Given the description of an element on the screen output the (x, y) to click on. 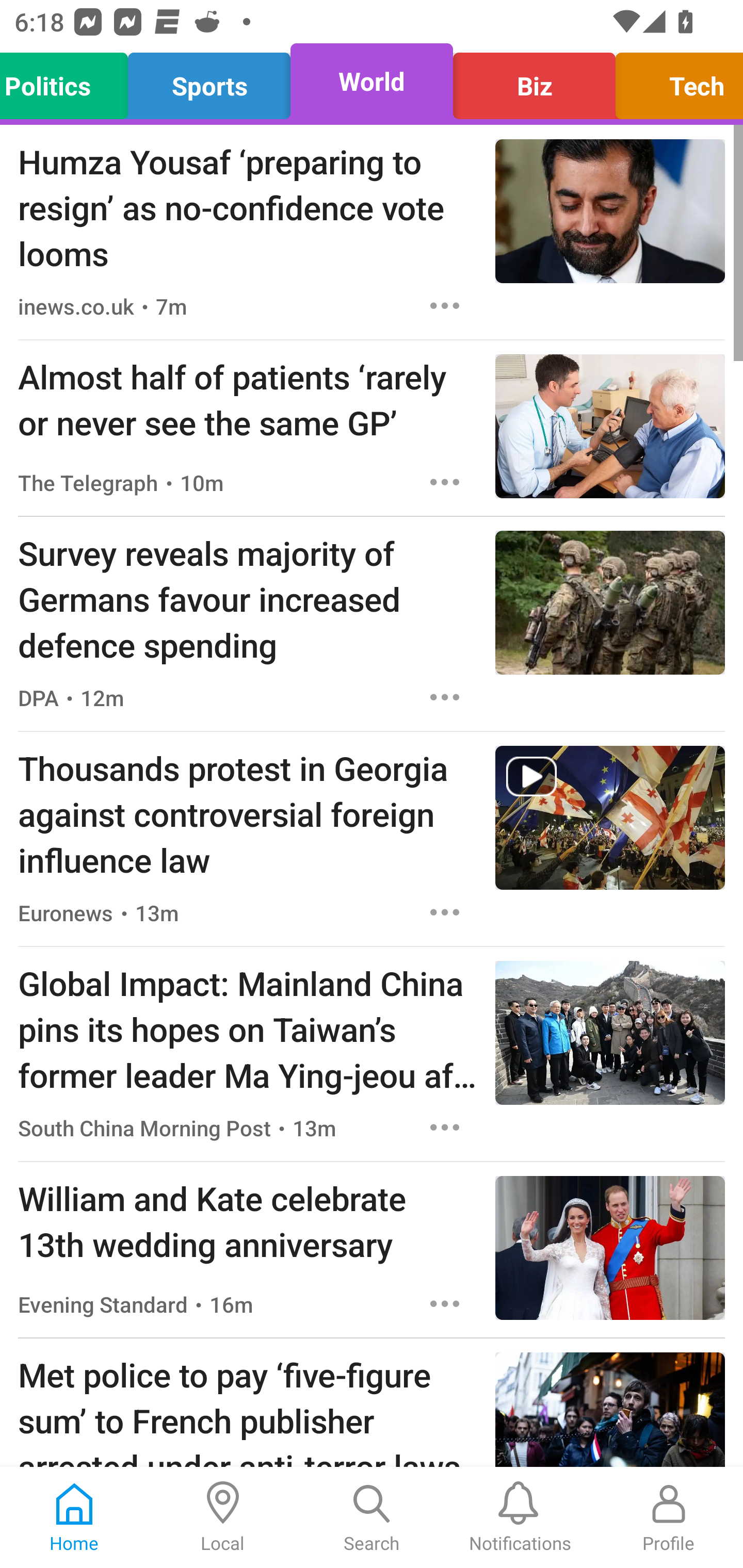
Politics (69, 81)
Sports (209, 81)
World (371, 81)
Biz (534, 81)
Tech (673, 81)
Options (444, 305)
Options (444, 481)
Options (444, 697)
Options (444, 912)
Options (444, 1127)
Options (444, 1303)
Local (222, 1517)
Search (371, 1517)
Notifications (519, 1517)
Profile (668, 1517)
